Given the description of an element on the screen output the (x, y) to click on. 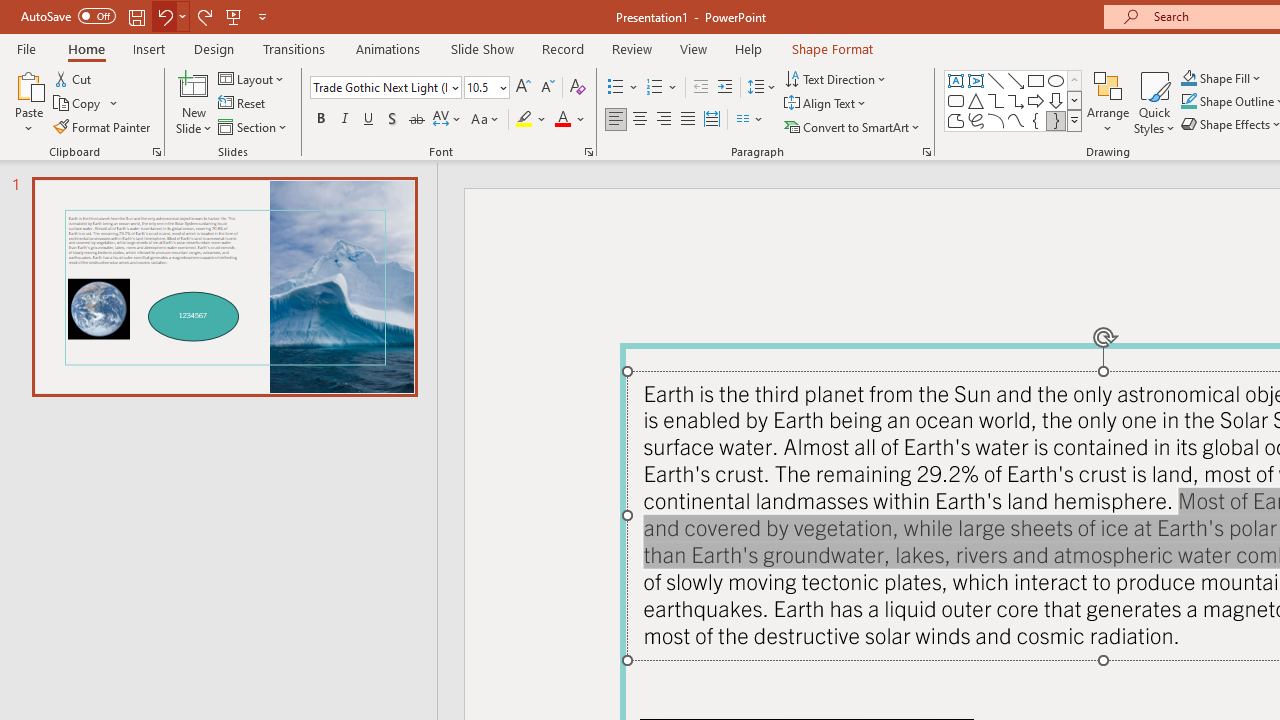
Line (995, 80)
Text Highlight Color Yellow (524, 119)
Character Spacing (447, 119)
Align Right (663, 119)
Left Brace (1035, 120)
Reset (243, 103)
Row Down (1074, 100)
Decrease Indent (700, 87)
Shape Format (832, 48)
Bold (320, 119)
